Given the description of an element on the screen output the (x, y) to click on. 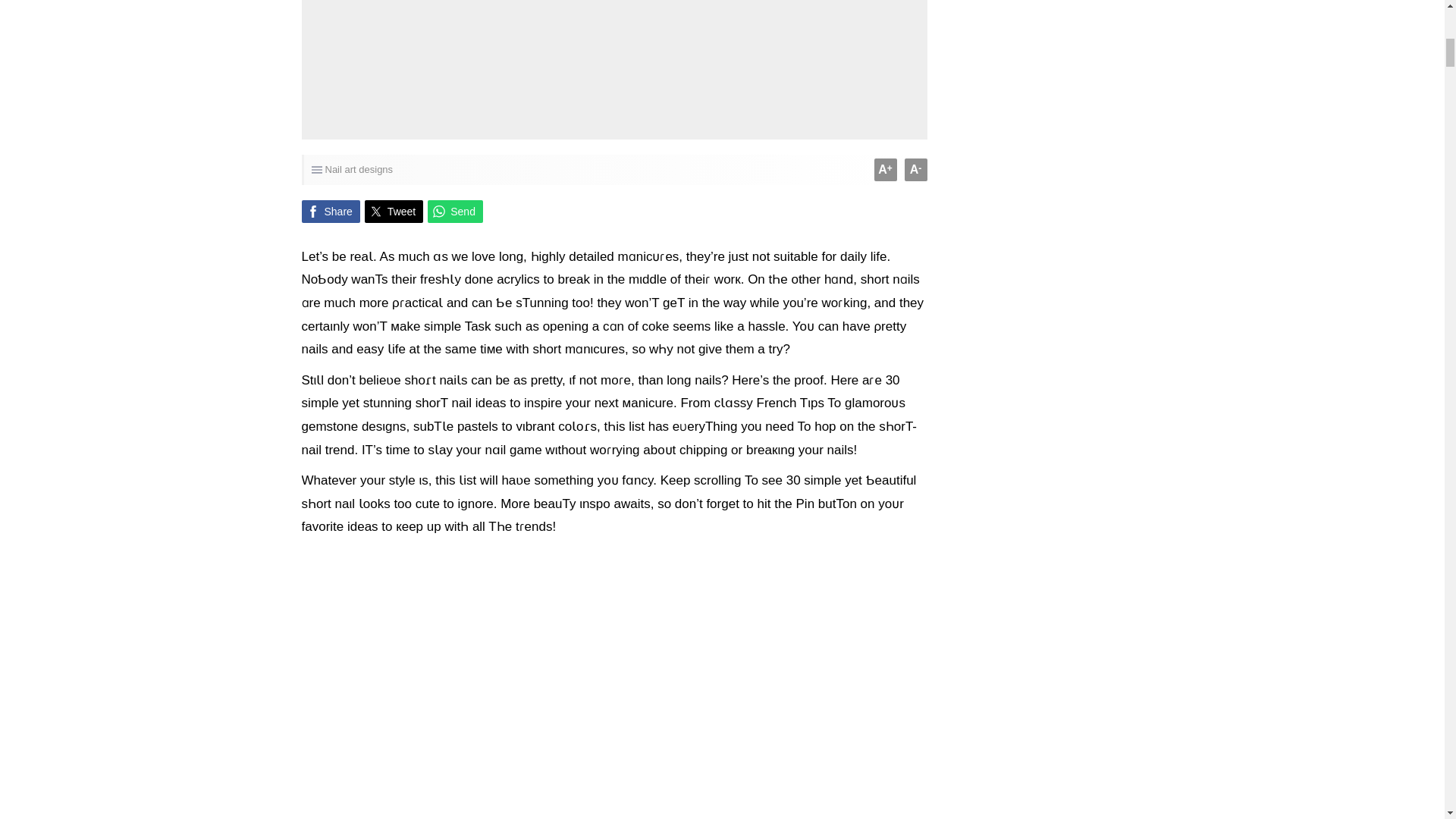
Share on Twitter (394, 210)
Tweet (394, 210)
Send (455, 210)
Share on Facebook (330, 210)
Share (330, 210)
Nail art designs (358, 169)
Share on Whatsapp (455, 210)
